Given the description of an element on the screen output the (x, y) to click on. 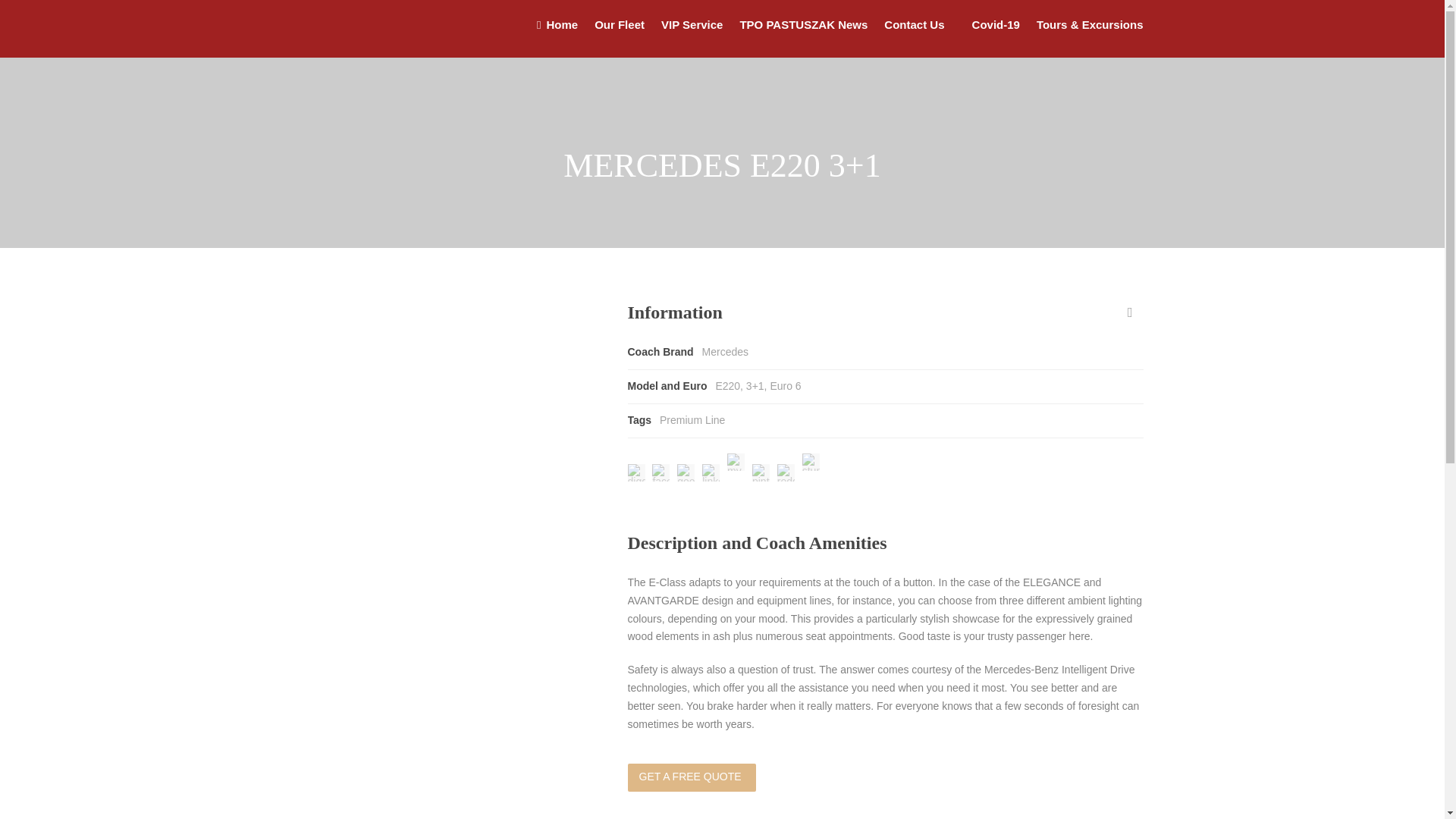
Premium Line (692, 419)
Contact Us (911, 36)
Covid-19 (987, 36)
VIP Service (683, 36)
Our Fleet (611, 36)
Home (557, 36)
GET A FREE QUOTE  (691, 777)
TPO PASTUSZAK News (794, 36)
